Given the description of an element on the screen output the (x, y) to click on. 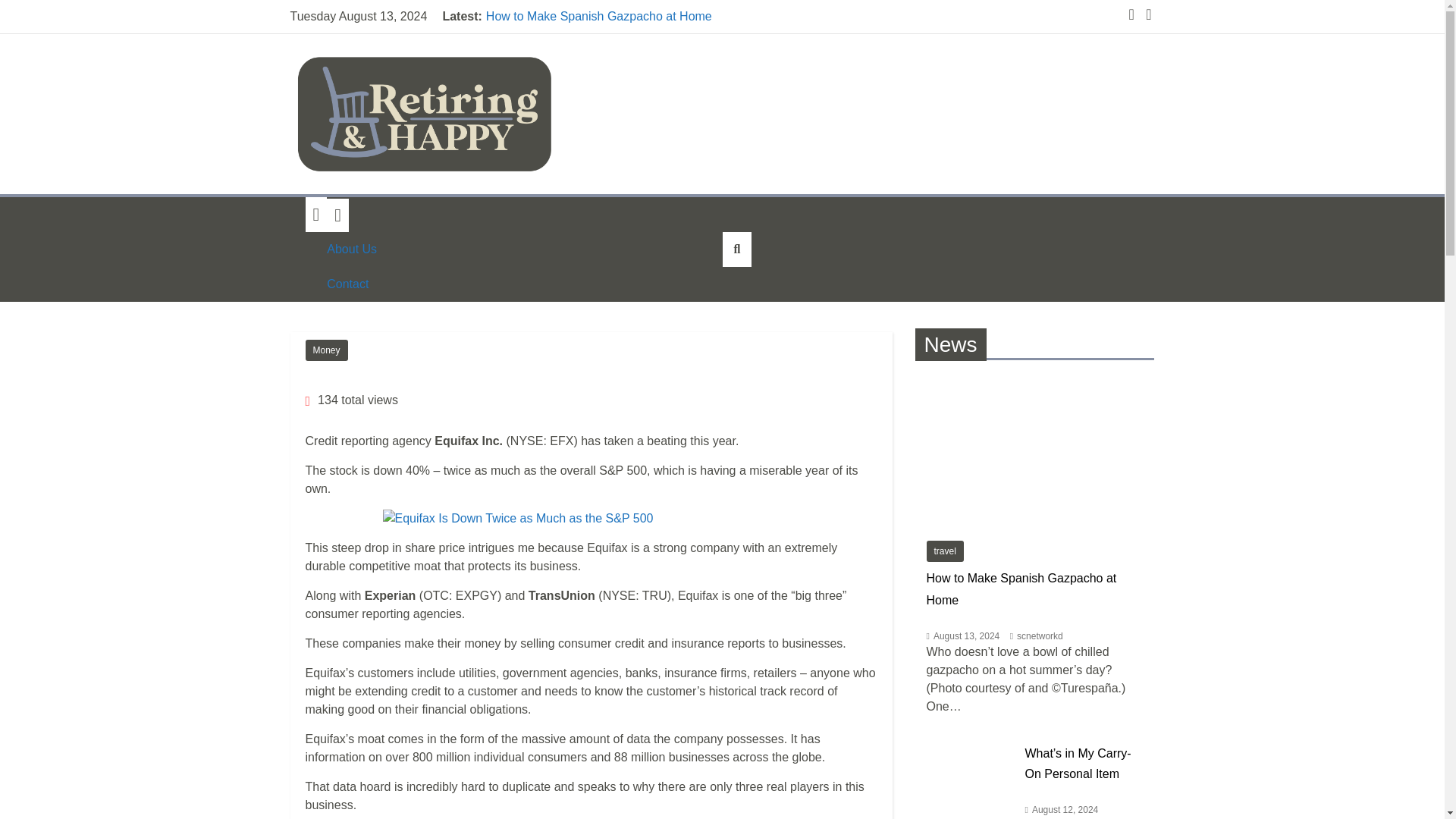
About Us (351, 248)
2:28 am (963, 635)
How to Make Spanish Gazpacho at Home (600, 16)
Money (325, 350)
How to Make Spanish Gazpacho at Home (1021, 588)
scnetworkd (1039, 635)
August 13, 2024 (965, 635)
Contact (351, 284)
travel (944, 550)
How to Make Spanish Gazpacho at Home (1034, 451)
